Given the description of an element on the screen output the (x, y) to click on. 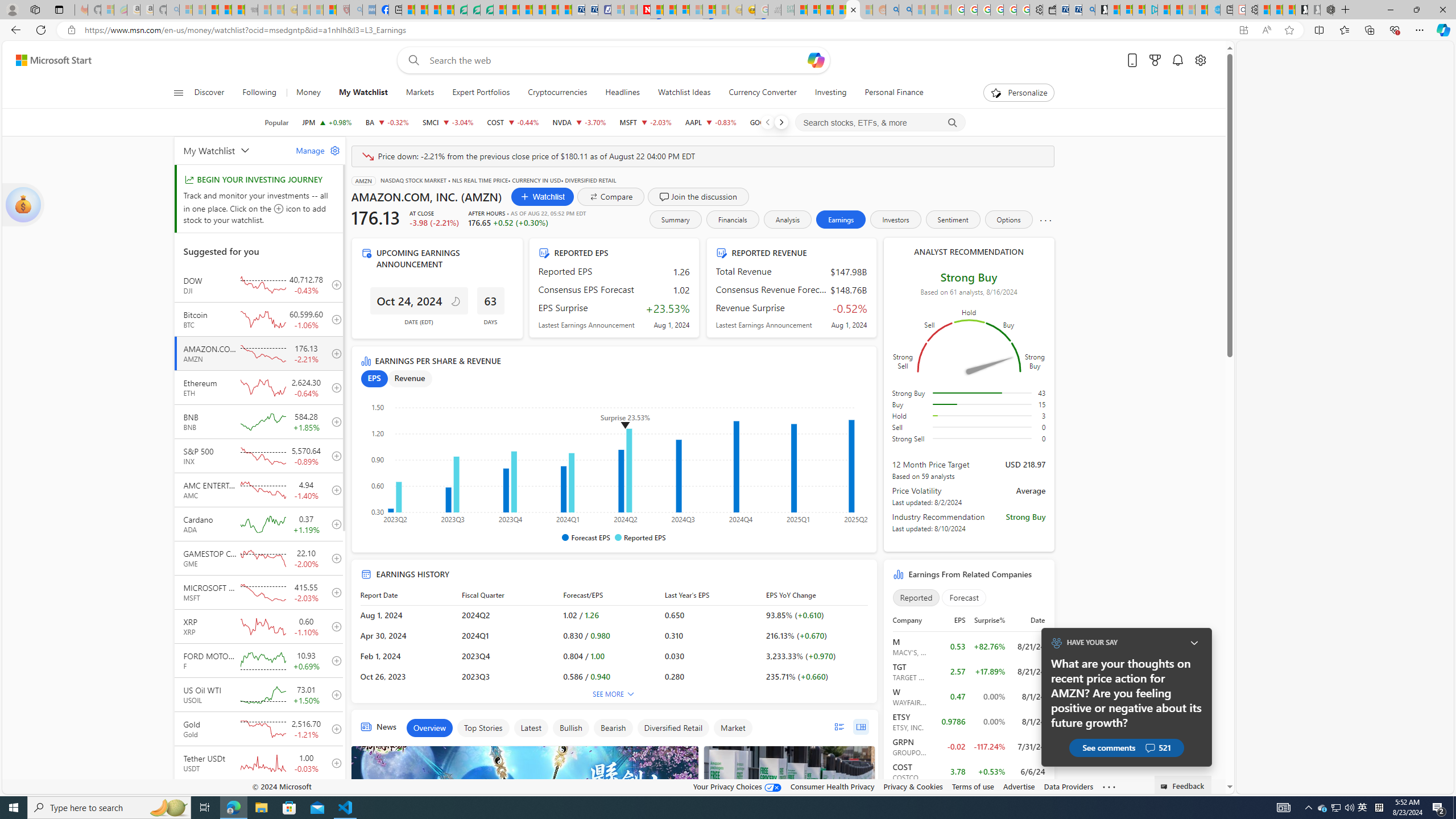
EARNINGS HISTORY (613, 569)
Personalize (1019, 92)
Your Privacy Choices (737, 785)
Revenue (409, 378)
Previous (767, 122)
Top Stories (483, 728)
Student Loan Update: Forgiveness Program Ends This Month (839, 9)
